Given the description of an element on the screen output the (x, y) to click on. 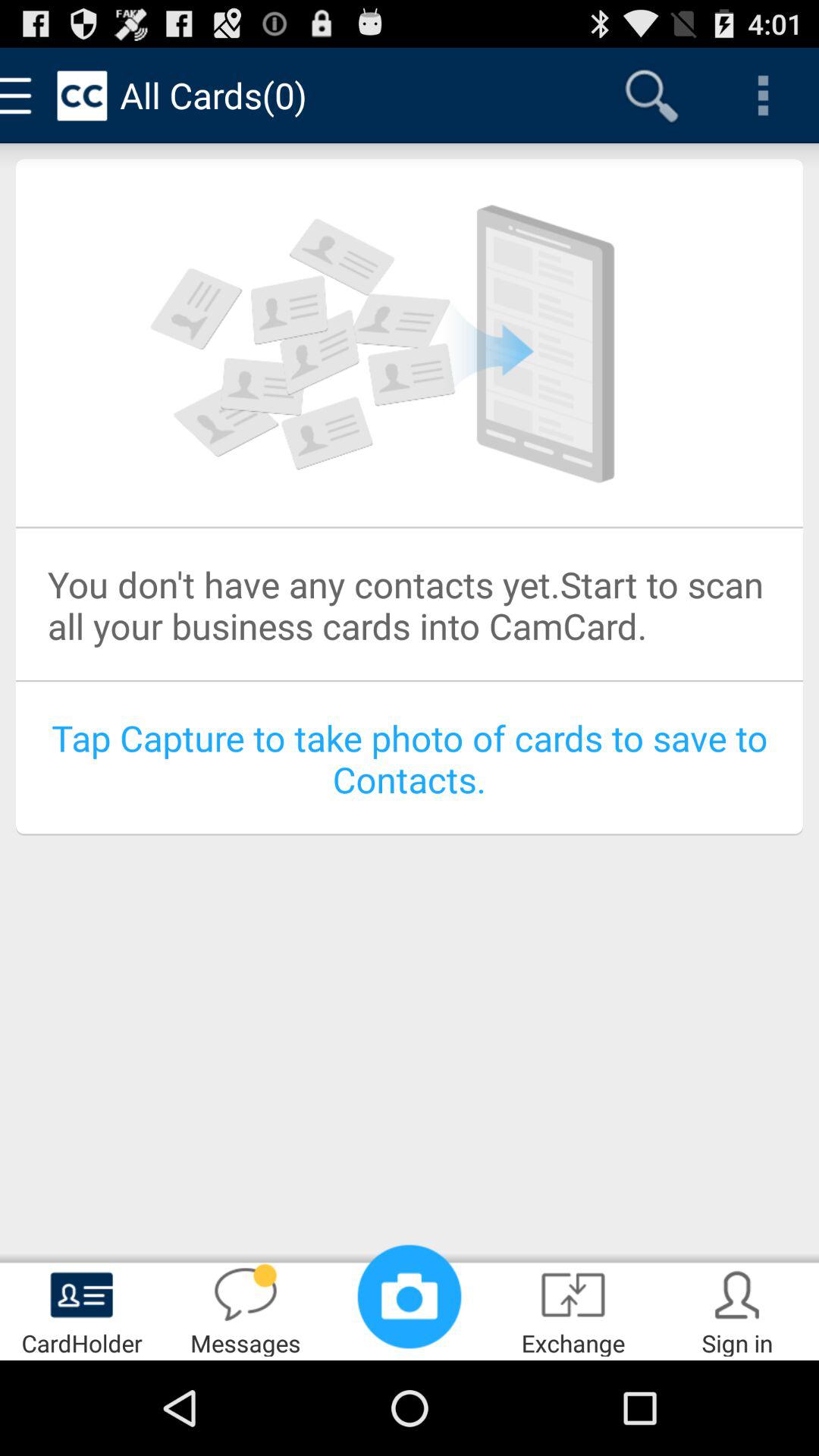
launch item next to messages item (81, 1309)
